Given the description of an element on the screen output the (x, y) to click on. 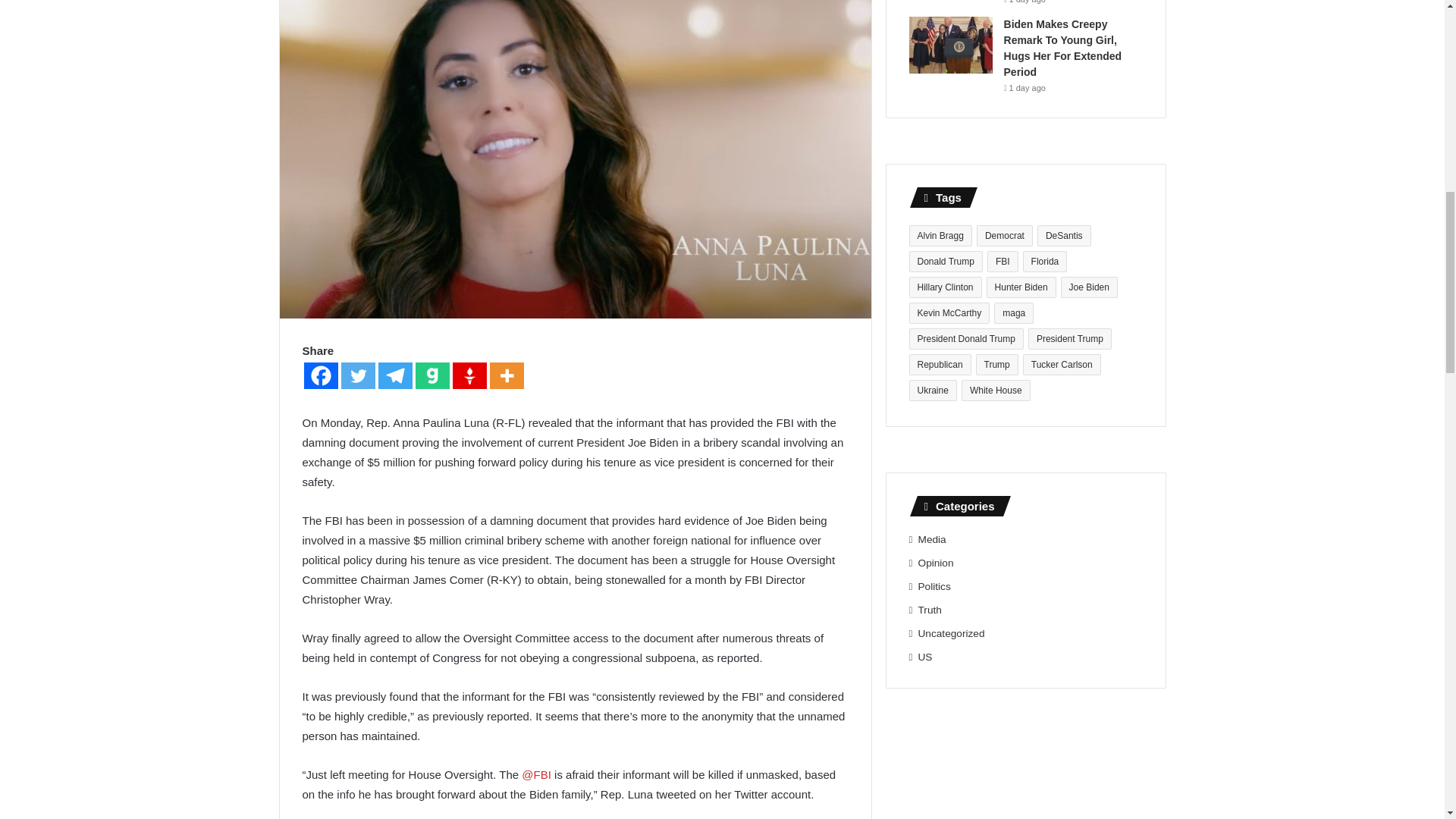
Gab (431, 375)
Gettr (468, 375)
More (506, 375)
Facebook (319, 375)
Telegram (394, 375)
Twitter (357, 375)
